Given the description of an element on the screen output the (x, y) to click on. 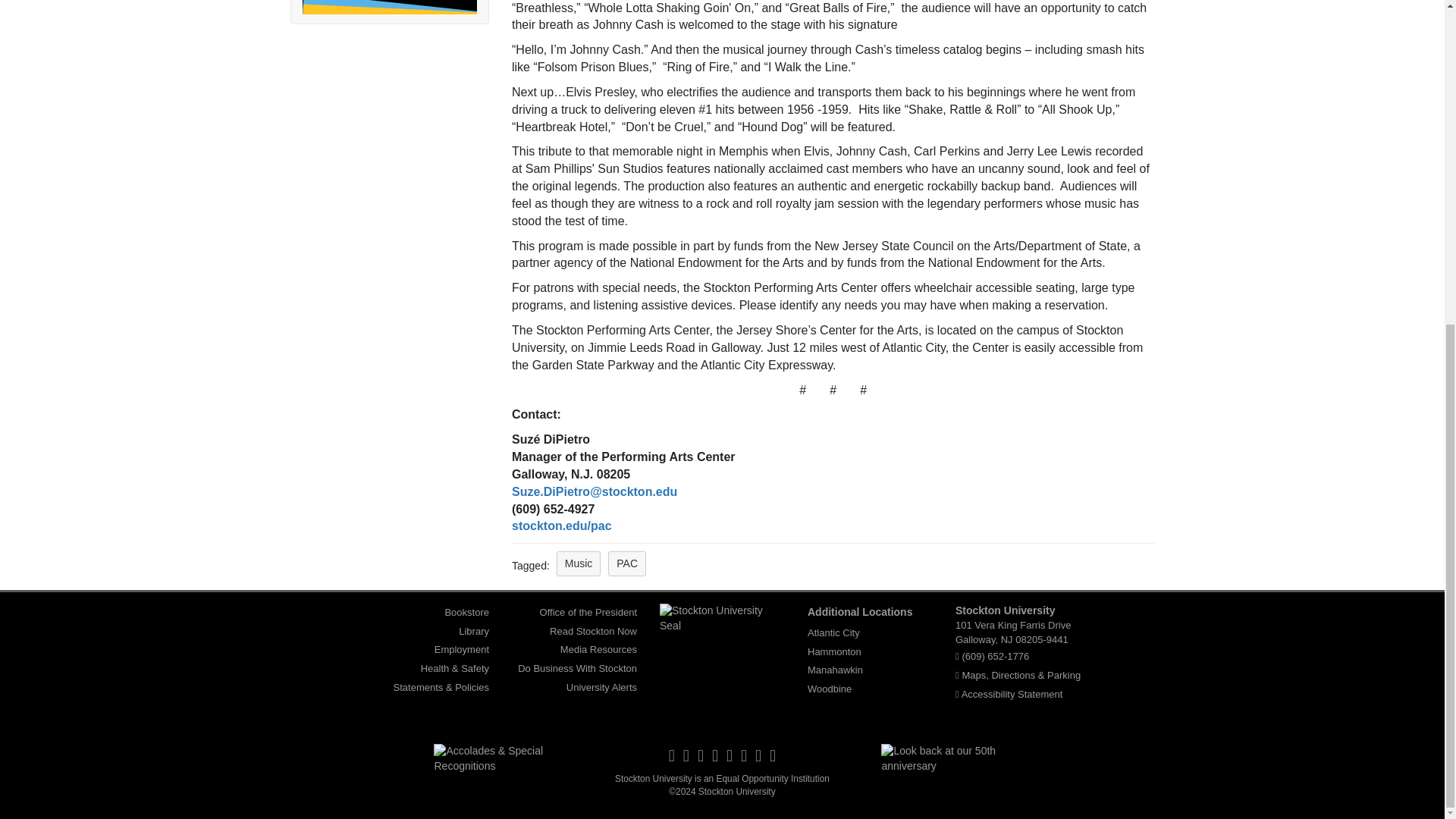
Music (578, 563)
Media Resources (598, 649)
Call with Google Voice (994, 655)
PAC (627, 563)
University Alerts (601, 687)
Read Stockton Now (593, 631)
Do Business With Stockton (577, 668)
Office of the President (588, 611)
Library (473, 631)
Bookstore (466, 611)
